Given the description of an element on the screen output the (x, y) to click on. 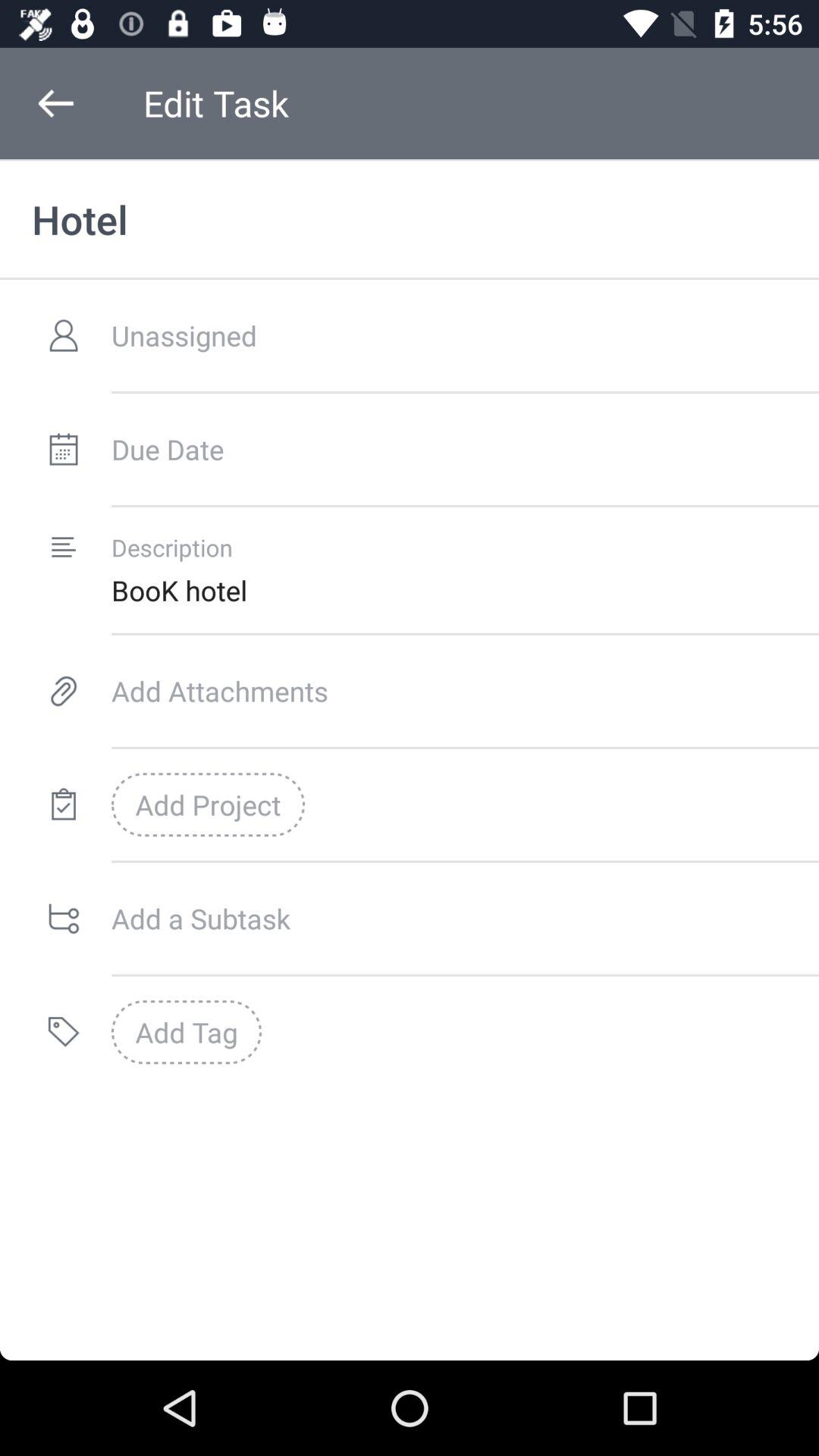
turn off the item below the add project item (465, 918)
